Given the description of an element on the screen output the (x, y) to click on. 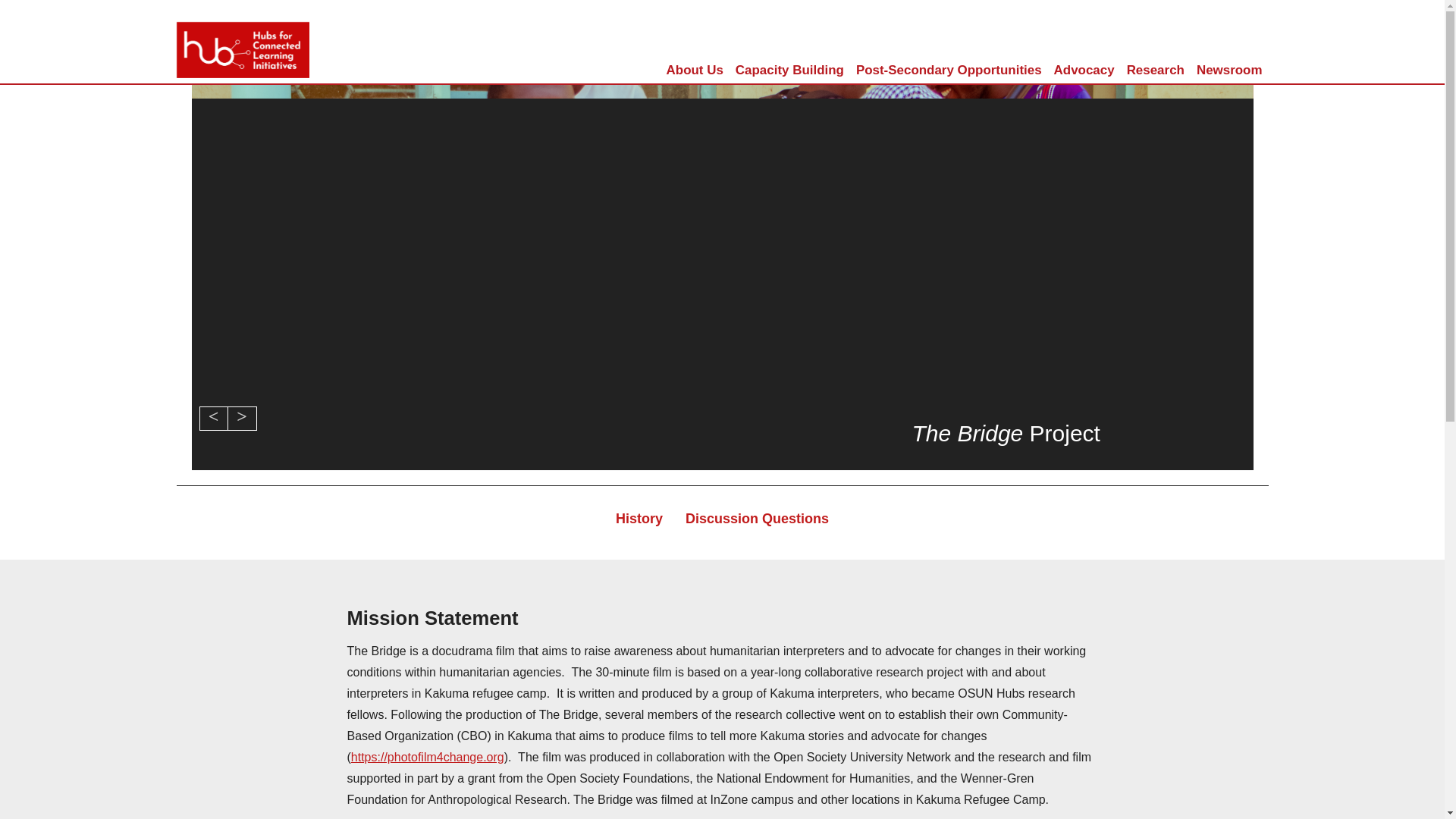
Post-Secondary Opportunities (949, 69)
Discussion Questions (756, 518)
HUBS (242, 26)
Next (241, 418)
History (638, 518)
About Us (694, 70)
Advocacy (1084, 69)
Previous (212, 418)
Capacity Building (789, 70)
Research (1155, 70)
Newsroom (1229, 70)
